Given the description of an element on the screen output the (x, y) to click on. 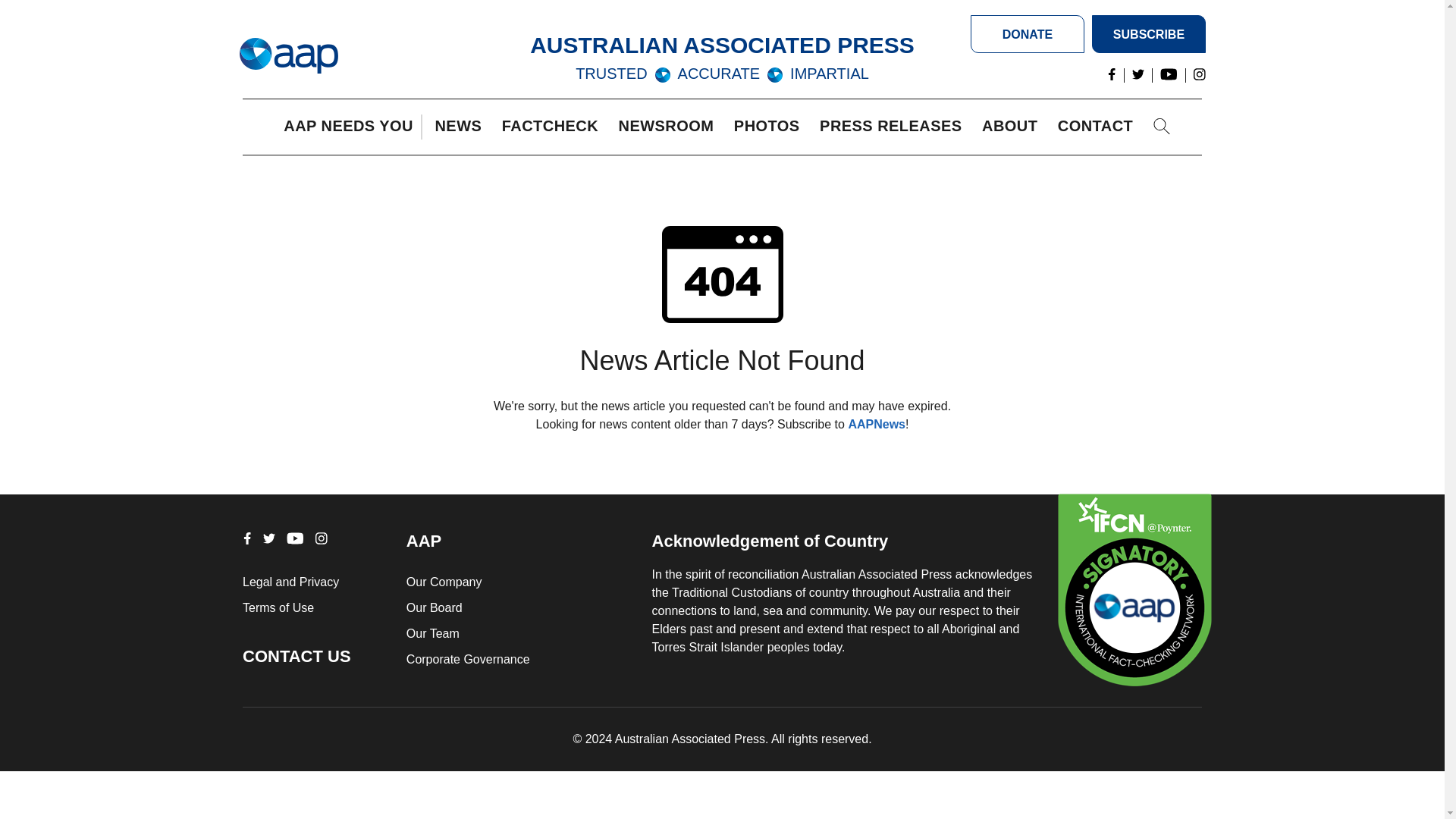
AAP NEEDS YOU (351, 126)
AUSTRALIAN ASSOCIATED PRESS (721, 44)
Home (288, 56)
NEWS (461, 126)
NEWSROOM (670, 126)
AAPNews (876, 423)
SUBSCRIBE (1148, 34)
PHOTOS (770, 126)
ABOUT (1013, 126)
DONATE (1027, 34)
FACTCHECK (553, 126)
CONTACT (1099, 126)
PRESS RELEASES (894, 126)
